Given the description of an element on the screen output the (x, y) to click on. 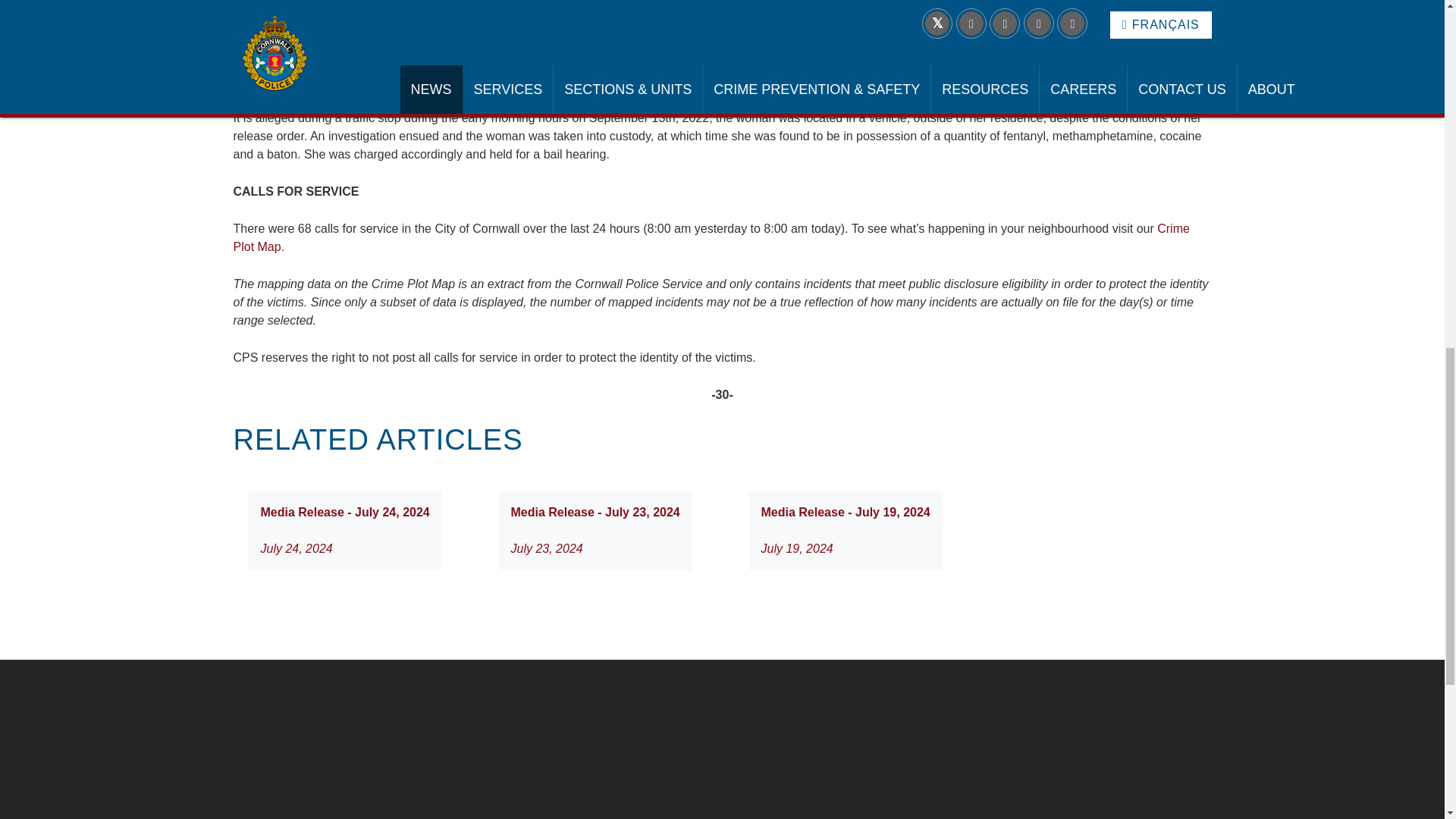
Crime Plot Map (710, 237)
